Given the description of an element on the screen output the (x, y) to click on. 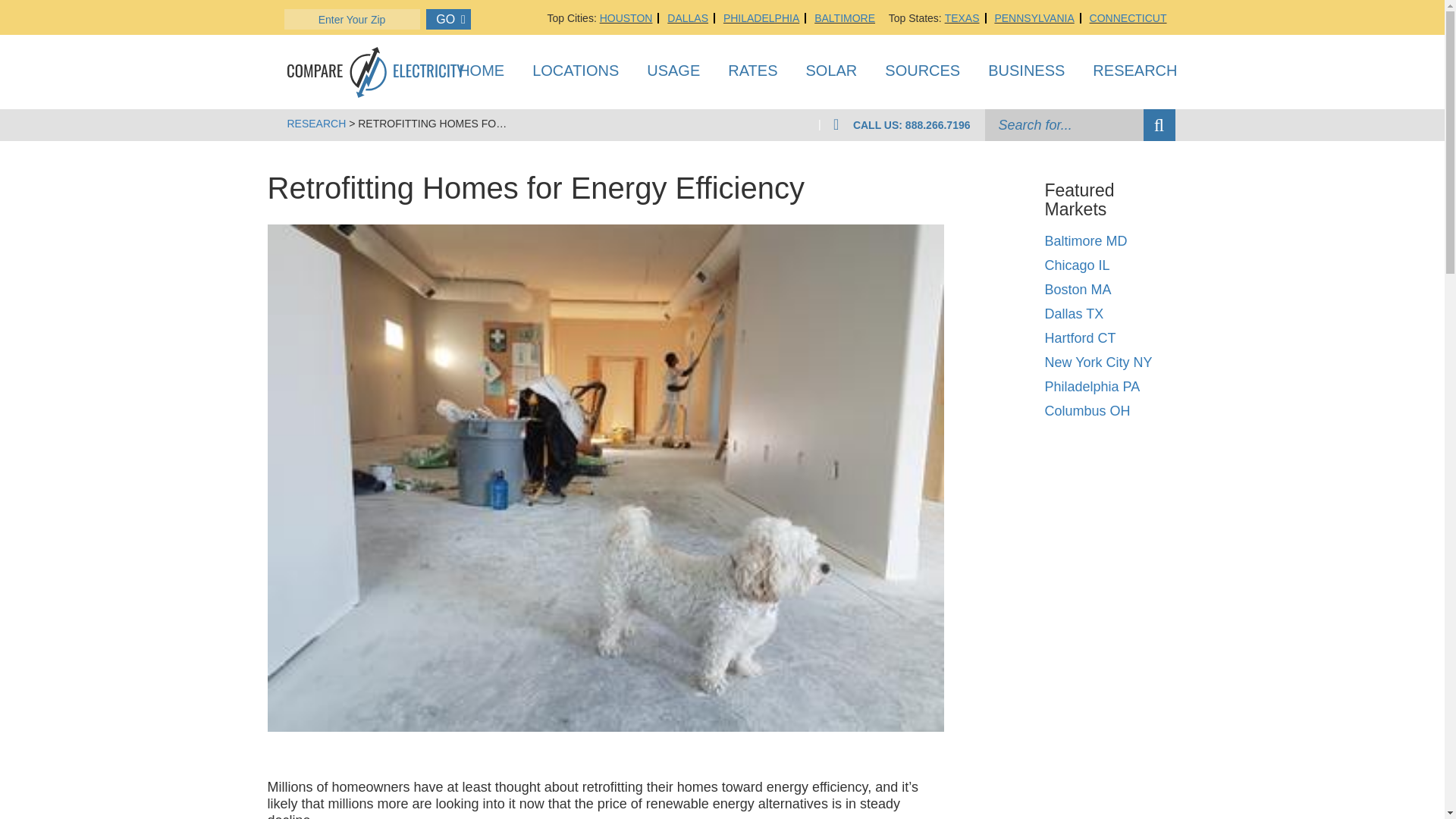
CONNECTICUT (1128, 18)
USAGE (673, 73)
TEXAS (961, 18)
Boston MA (1076, 289)
Dallas TX (1073, 313)
BUSINESS (1026, 73)
HOUSTON (625, 18)
CALL US: 888.266.7196 (912, 124)
Hartford CT (1079, 337)
HOME (480, 73)
RATES (752, 73)
Chicago IL (1076, 264)
SOURCES (922, 73)
PHILADELPHIA (761, 18)
GO (448, 19)
